Given the description of an element on the screen output the (x, y) to click on. 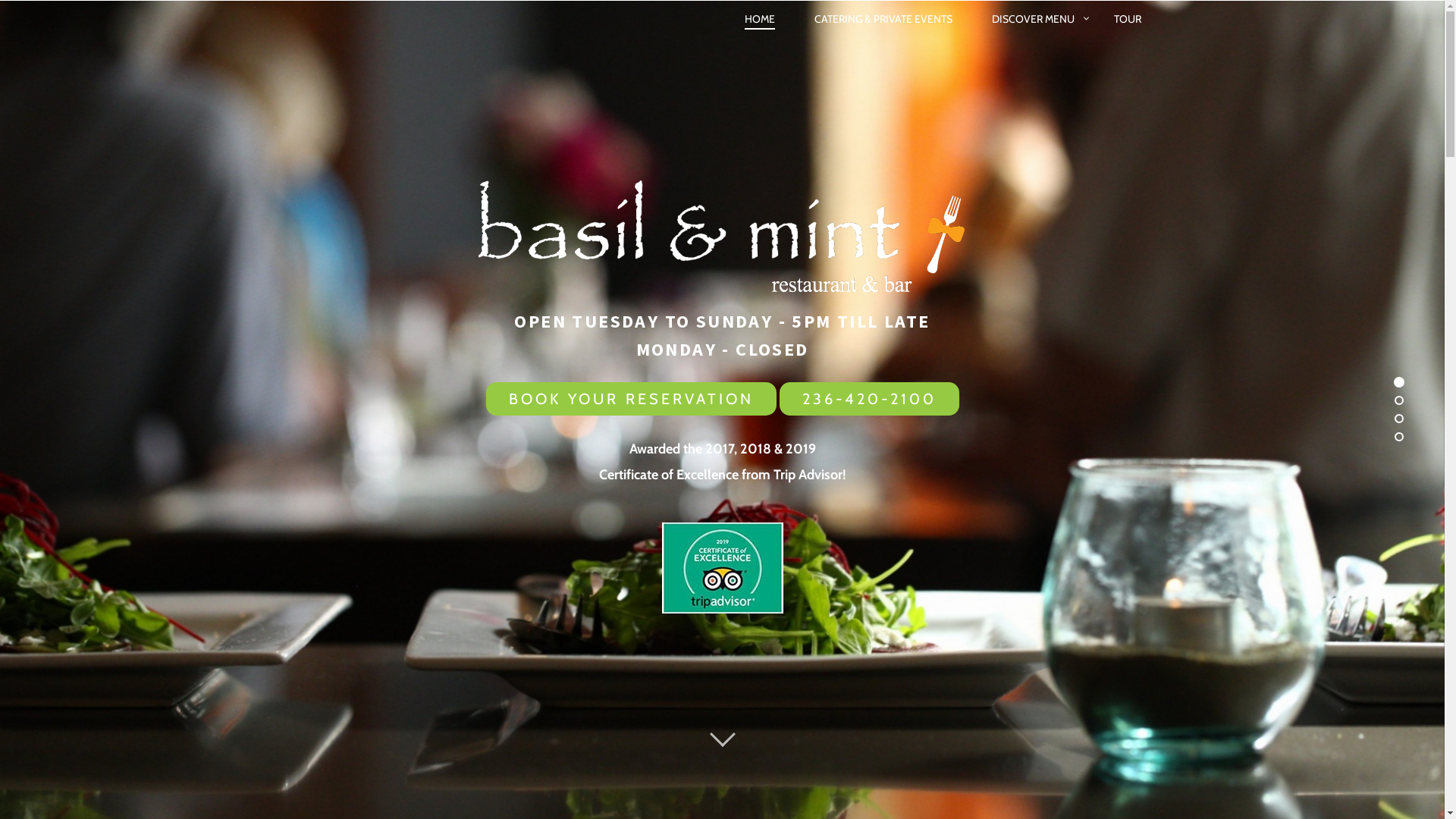
BOOK YOUR RESERVATION Element type: text (630, 398)
CATERING & PRIVATE EVENTS Element type: text (883, 18)
DISCOVER MENU Element type: text (1032, 18)
236-420-2100 Element type: text (869, 398)
TOUR Element type: text (1126, 18)
HOME Element type: text (759, 19)
